Given the description of an element on the screen output the (x, y) to click on. 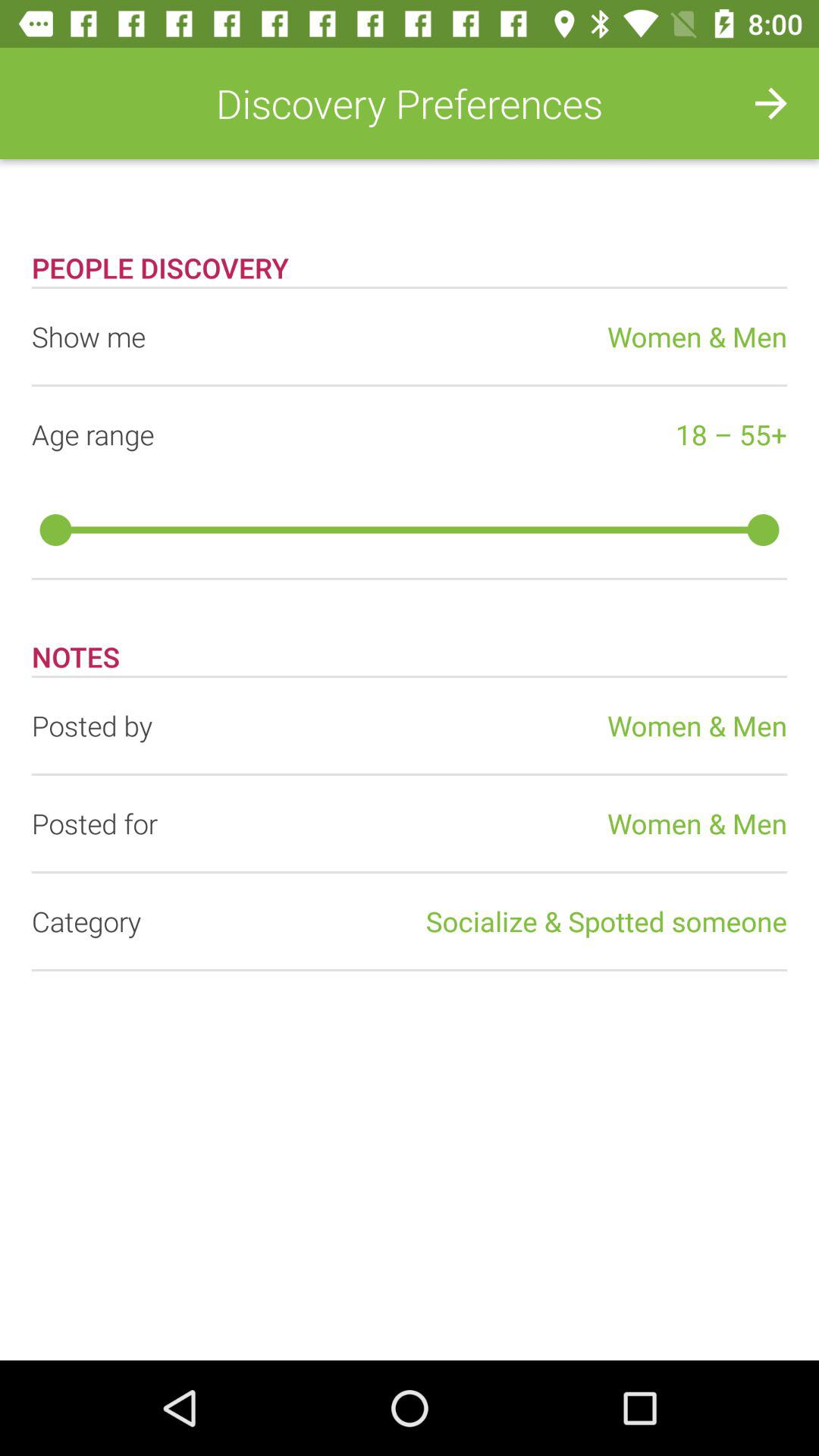
choose the icon to the right of the discovery preferences (771, 103)
